Given the description of an element on the screen output the (x, y) to click on. 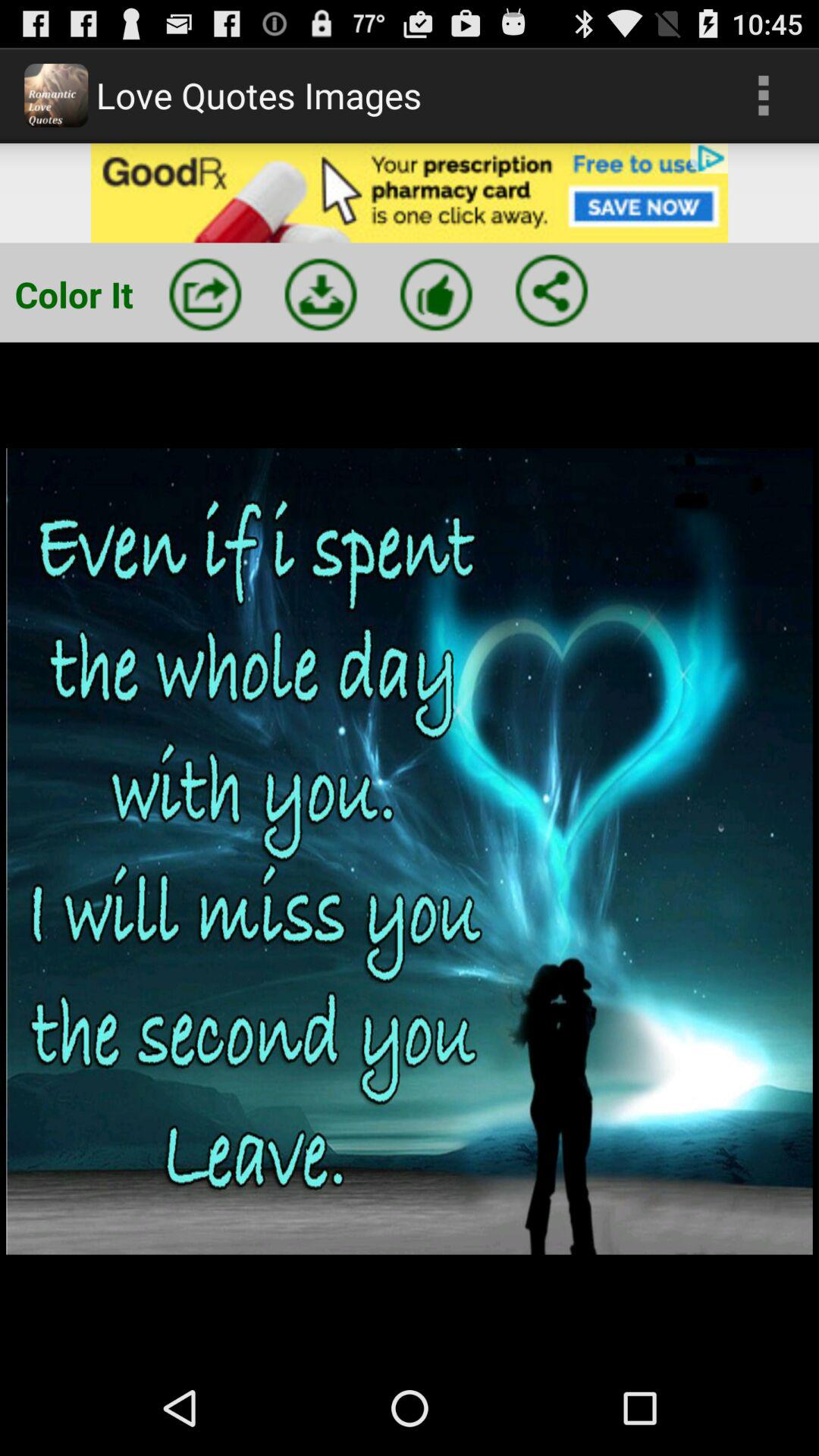
like page (436, 294)
